Given the description of an element on the screen output the (x, y) to click on. 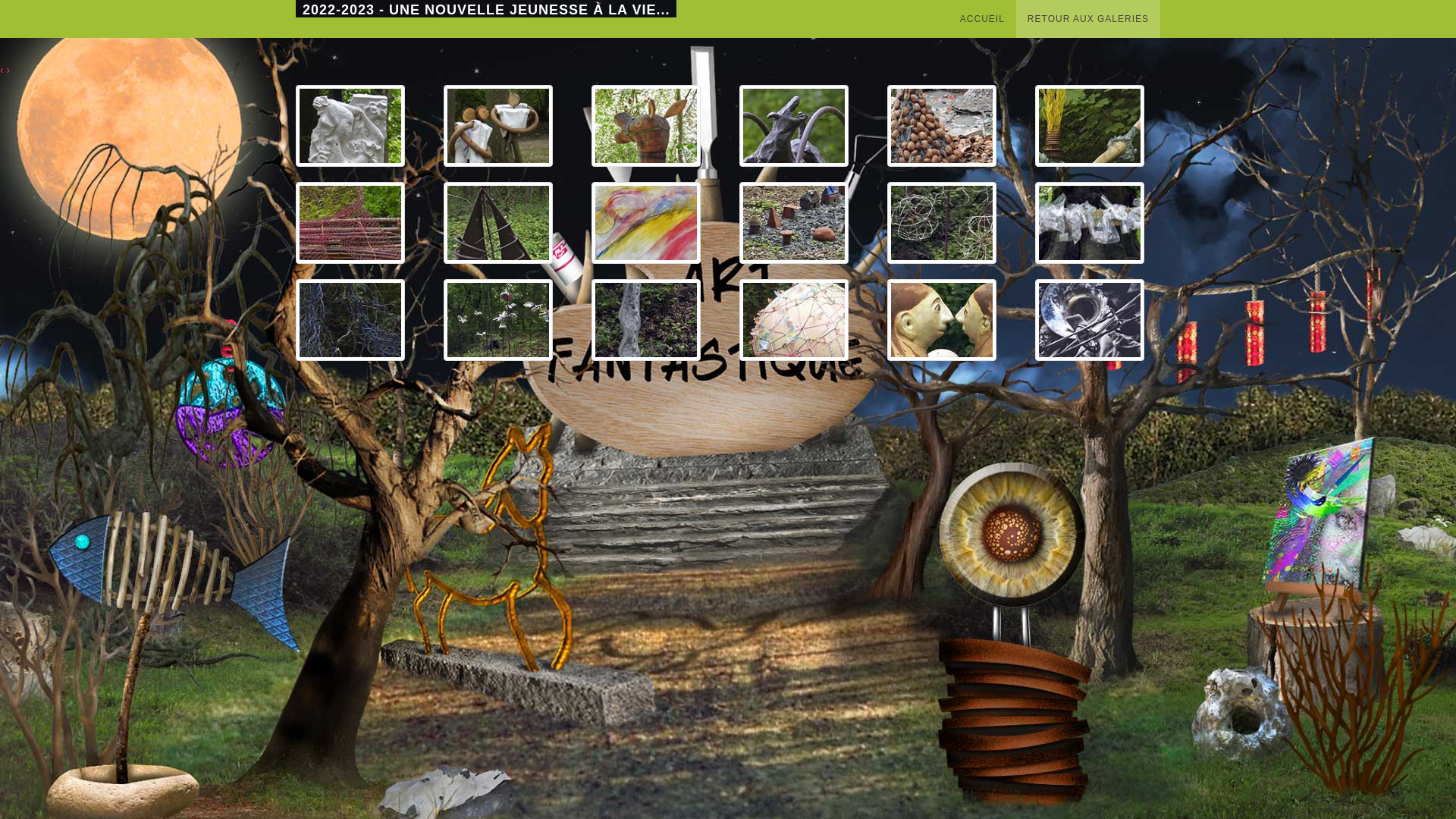
Nadine Devreux Element type: hover (941, 125)
Paolo Gasparotto Element type: hover (645, 319)
Henri Hardy Element type: hover (645, 125)
Alternatives Formations Element type: hover (497, 125)
Liliane Gordos Element type: hover (1089, 222)
RETOUR AUX GALERIES Element type: text (1088, 18)
ACCUEIL Element type: text (982, 18)
Brigitte Danse Element type: hover (497, 319)
Jack Hendriks Element type: hover (941, 222)
Adriana Nichting Element type: hover (941, 319)
Mirjam Korse & Marianne Comperen Element type: hover (349, 222)
Maurice Bastings Element type: hover (349, 125)
Jamal Lgana Element type: hover (793, 319)
Jos Beurskens Element type: hover (1089, 125)
Adria Ceelen & Bart Van Dijk Element type: hover (793, 125)
Darja Vos & Hans Vernooij Element type: hover (349, 319)
Adrien Versaen Element type: hover (497, 222)
Fotofilosofie - Thea Swinkels & Octaaf Coeckelberghs Element type: hover (1089, 319)
